Given the description of an element on the screen output the (x, y) to click on. 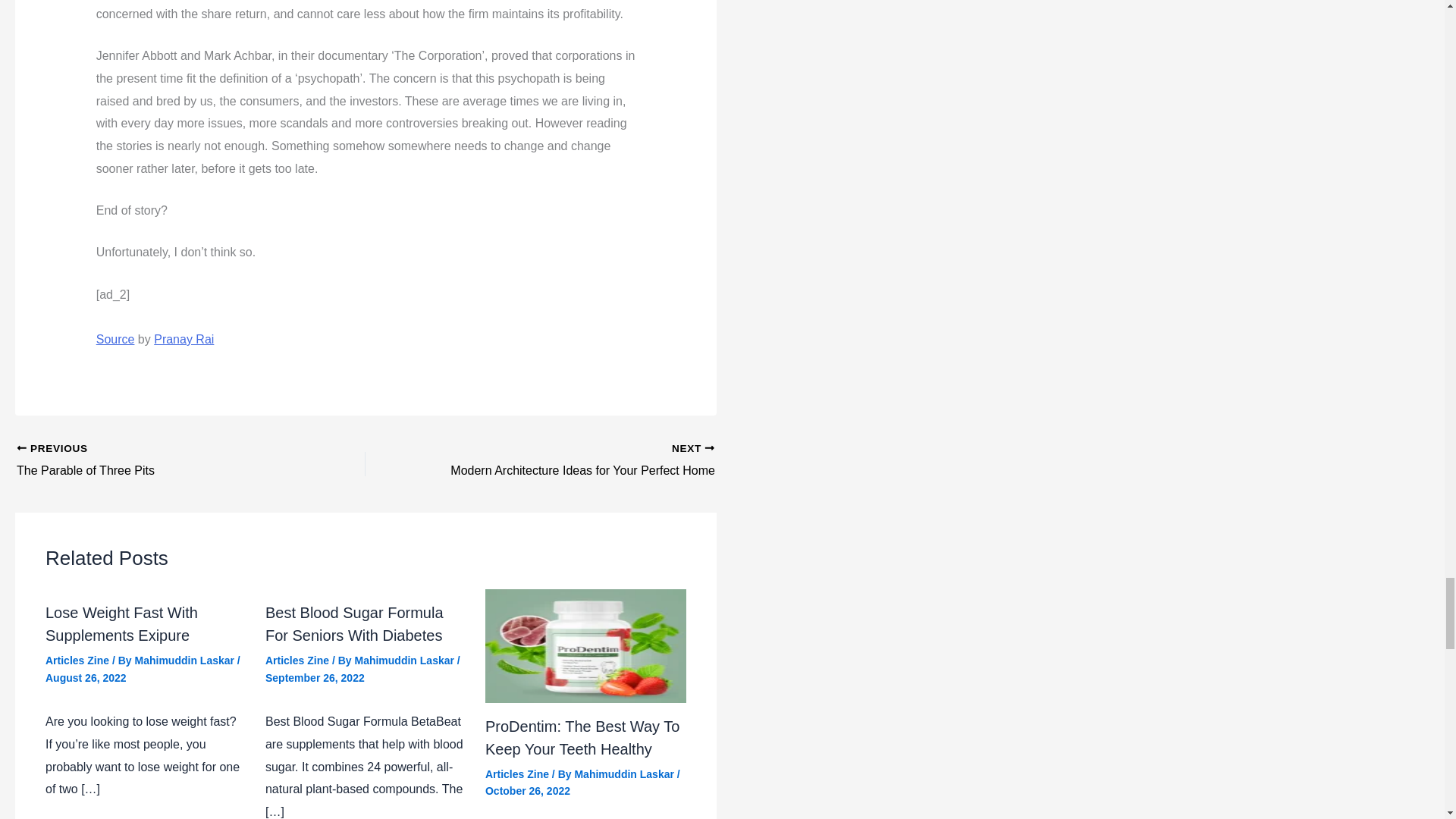
Articles Zine (77, 660)
Articles Zine (156, 460)
ProDentim: The Best Way To Keep Your Teeth Healthy (296, 660)
View all posts by Mahimuddin Laskar (581, 736)
Lose Weight Fast With Supplements Exipure (625, 773)
Modern Architecture Ideas for Your Perfect Home (121, 623)
View all posts by Mahimuddin Laskar (573, 460)
View all posts by Mahimuddin Laskar (186, 660)
The Parable of Three Pits (405, 660)
